Given the description of an element on the screen output the (x, y) to click on. 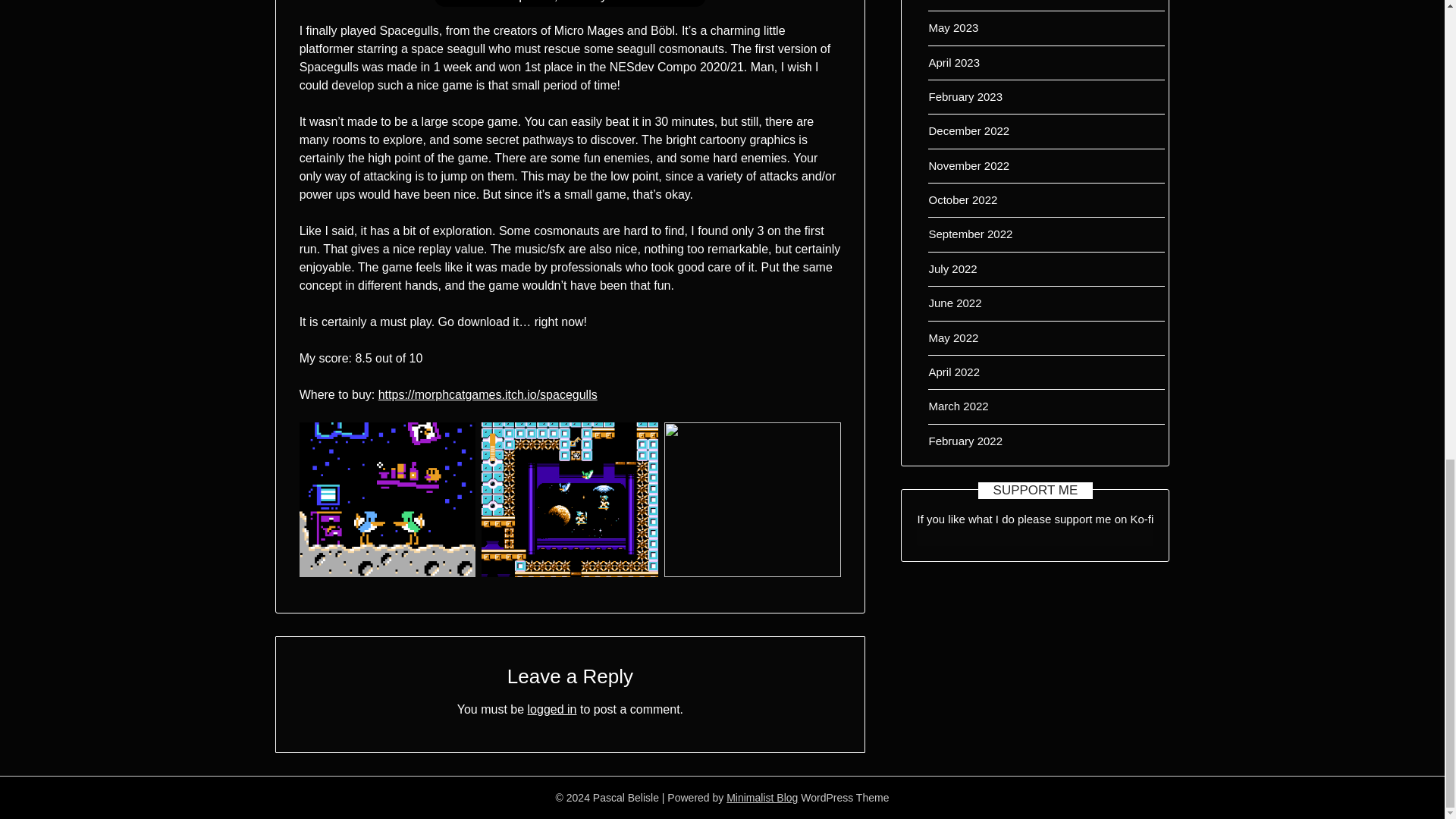
April 11, 2022 (550, 1)
July 2022 (952, 268)
October 2022 (962, 199)
April 2023 (953, 62)
December 2022 (968, 130)
March 2022 (958, 405)
September 2022 (969, 233)
May 2023 (953, 27)
April 2022 (953, 371)
Pascal Belisle (650, 1)
February 2023 (965, 96)
June 2022 (954, 302)
May 2022 (953, 336)
November 2022 (968, 164)
logged in (551, 708)
